Given the description of an element on the screen output the (x, y) to click on. 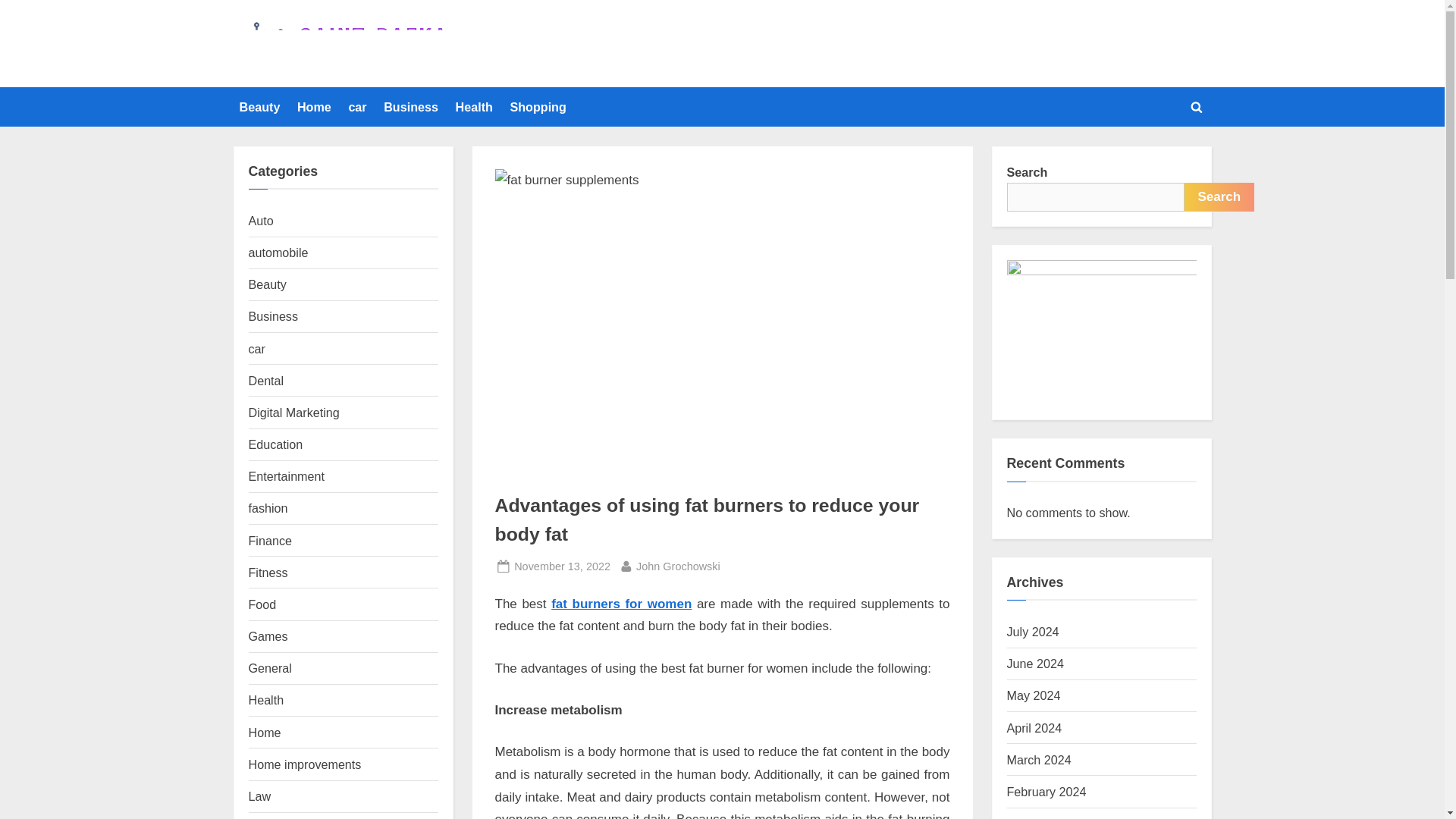
Digital Marketing (293, 412)
Finance (270, 540)
Beauty (259, 106)
Auto (260, 220)
Law (259, 796)
General (270, 667)
car (357, 106)
Education (275, 444)
Home improvements (304, 764)
automobile (278, 252)
Entertainment (286, 476)
fat burners for women (621, 603)
Home (314, 106)
Food (262, 603)
Games (268, 635)
